Given the description of an element on the screen output the (x, y) to click on. 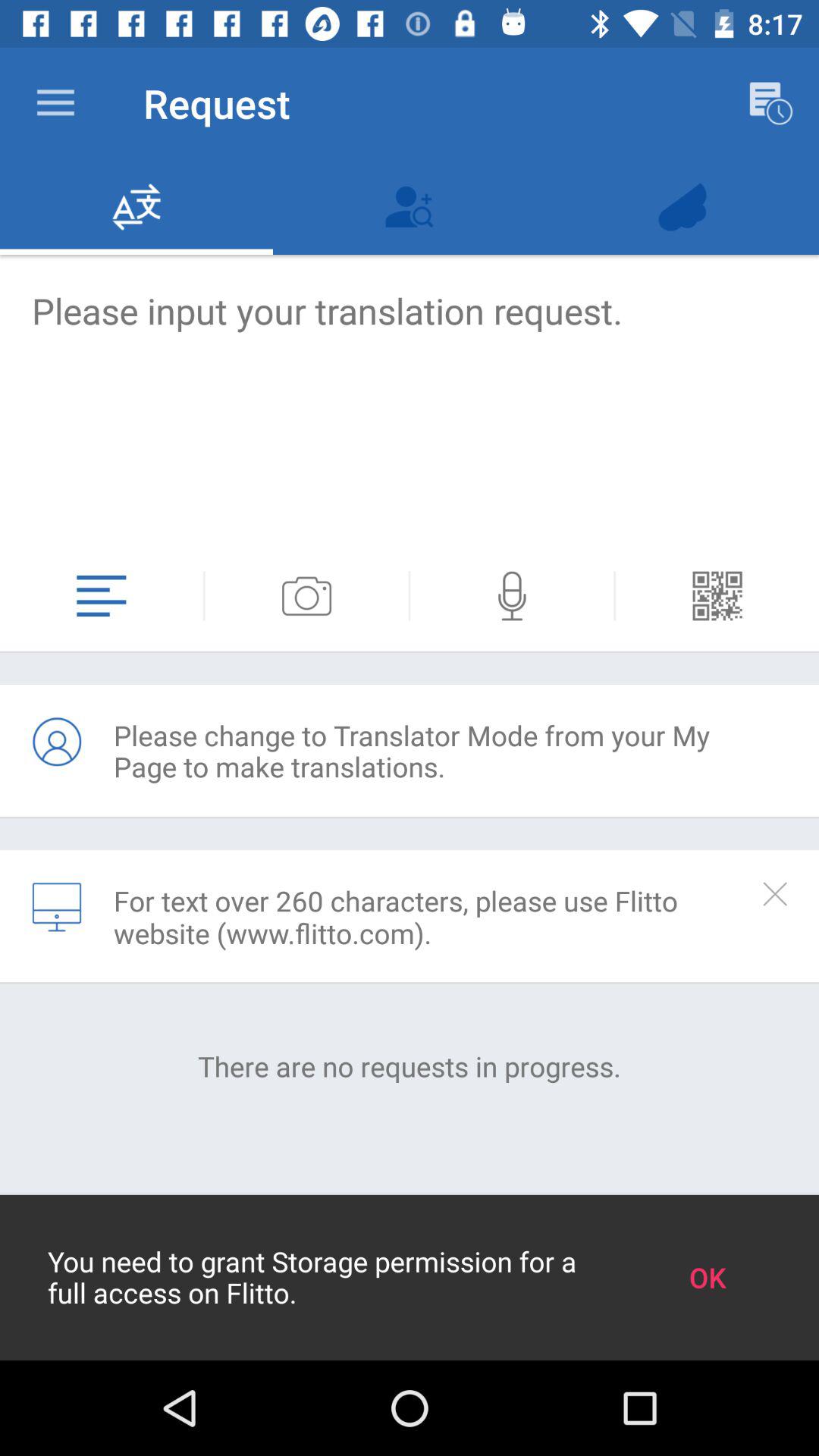
press icon to the left of the request item (55, 103)
